Given the description of an element on the screen output the (x, y) to click on. 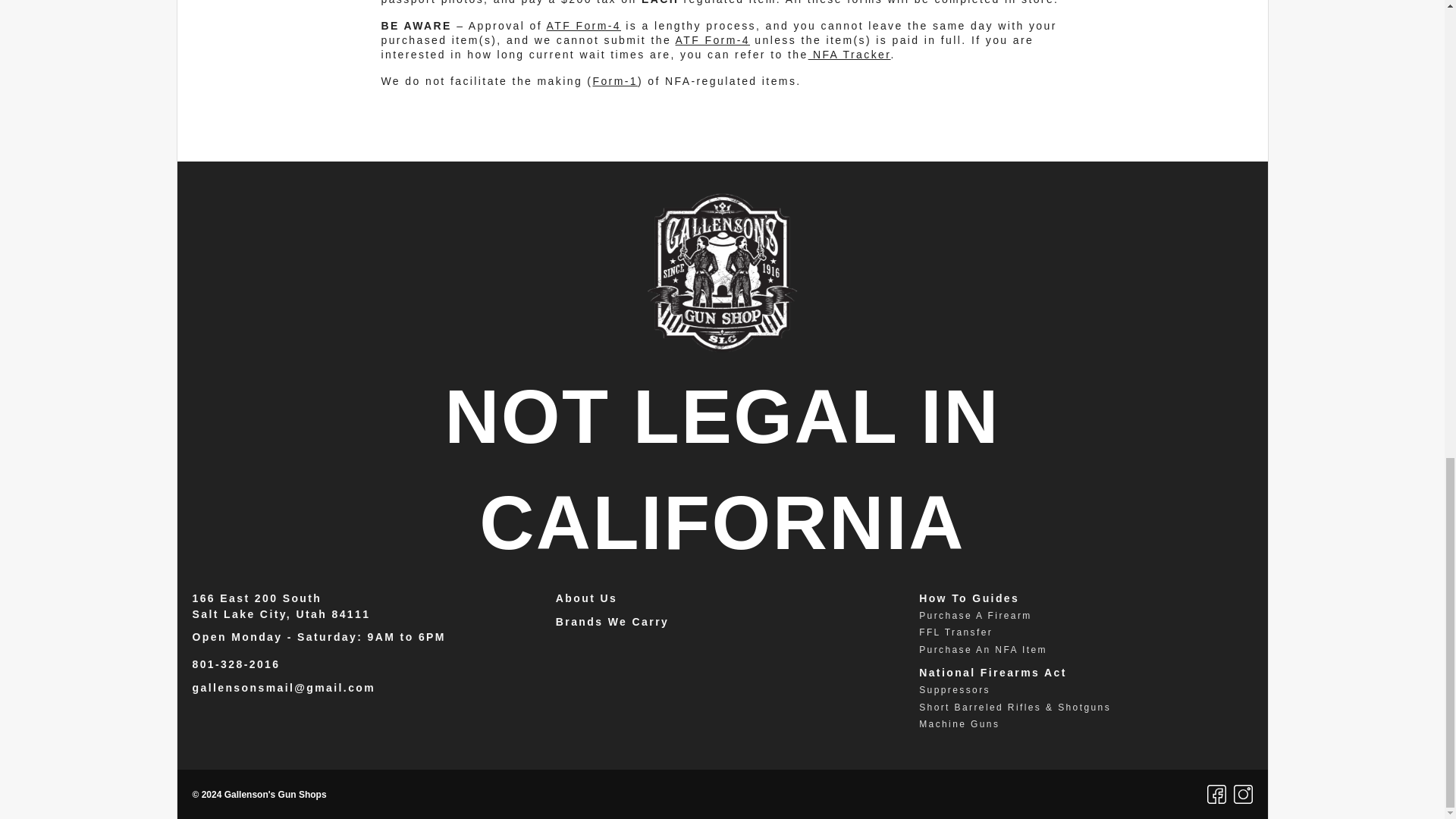
FFL Transfer (955, 632)
Suppressors (954, 689)
ATF Form-4 (712, 39)
Form-1 (614, 80)
Purchase A Firearm (975, 615)
Machine Guns (958, 724)
Purchase An NFA Item (982, 649)
ATF Form-4 (584, 25)
Brands We Carry (612, 621)
How To Guides (968, 598)
About Us (586, 598)
801-328-2016 (236, 664)
National Firearms Act (992, 672)
NFA Tracker (849, 54)
